Given the description of an element on the screen output the (x, y) to click on. 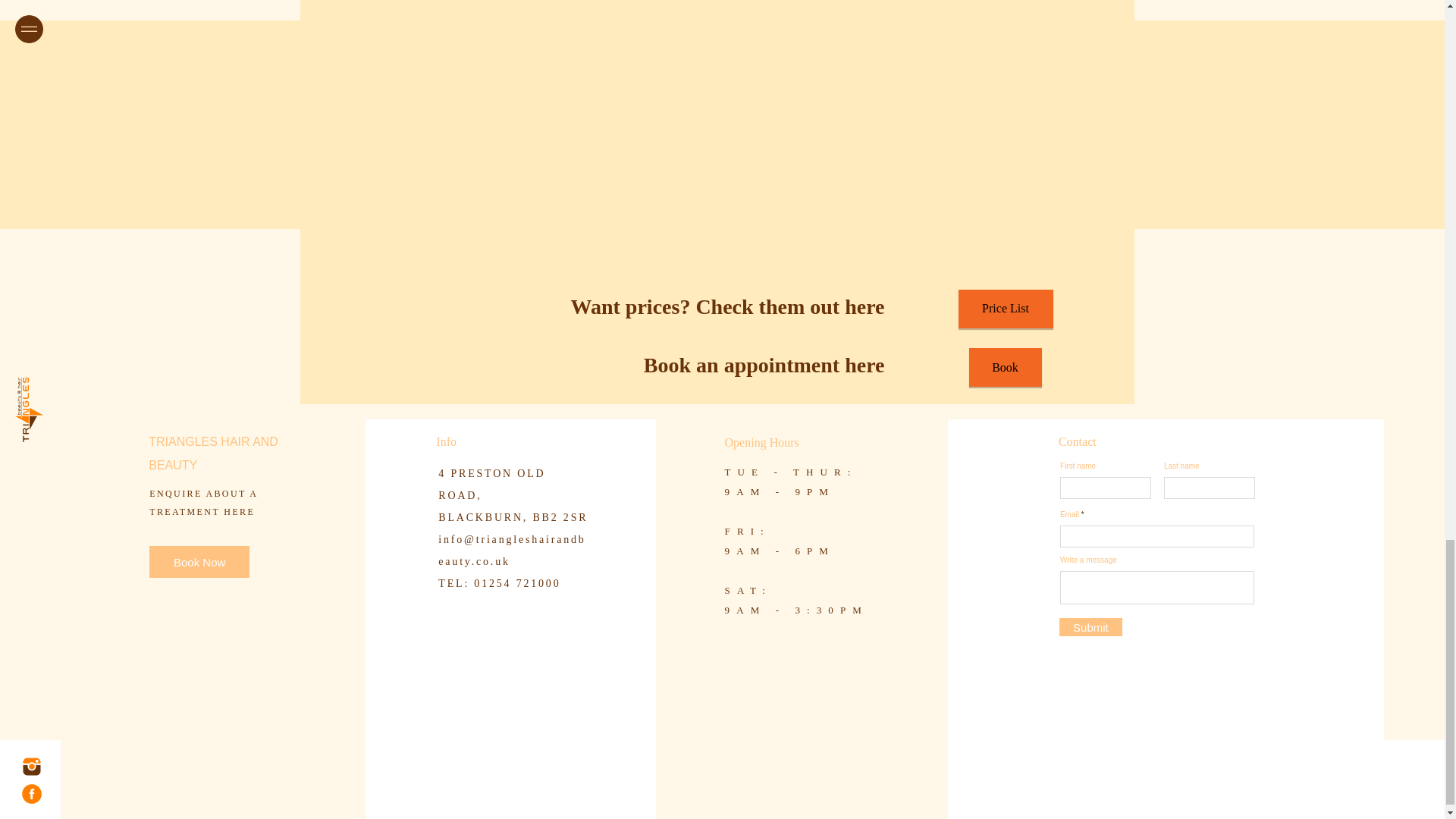
Price List (1005, 308)
Book (1005, 367)
Submit (1090, 627)
Book Now (198, 562)
